Given the description of an element on the screen output the (x, y) to click on. 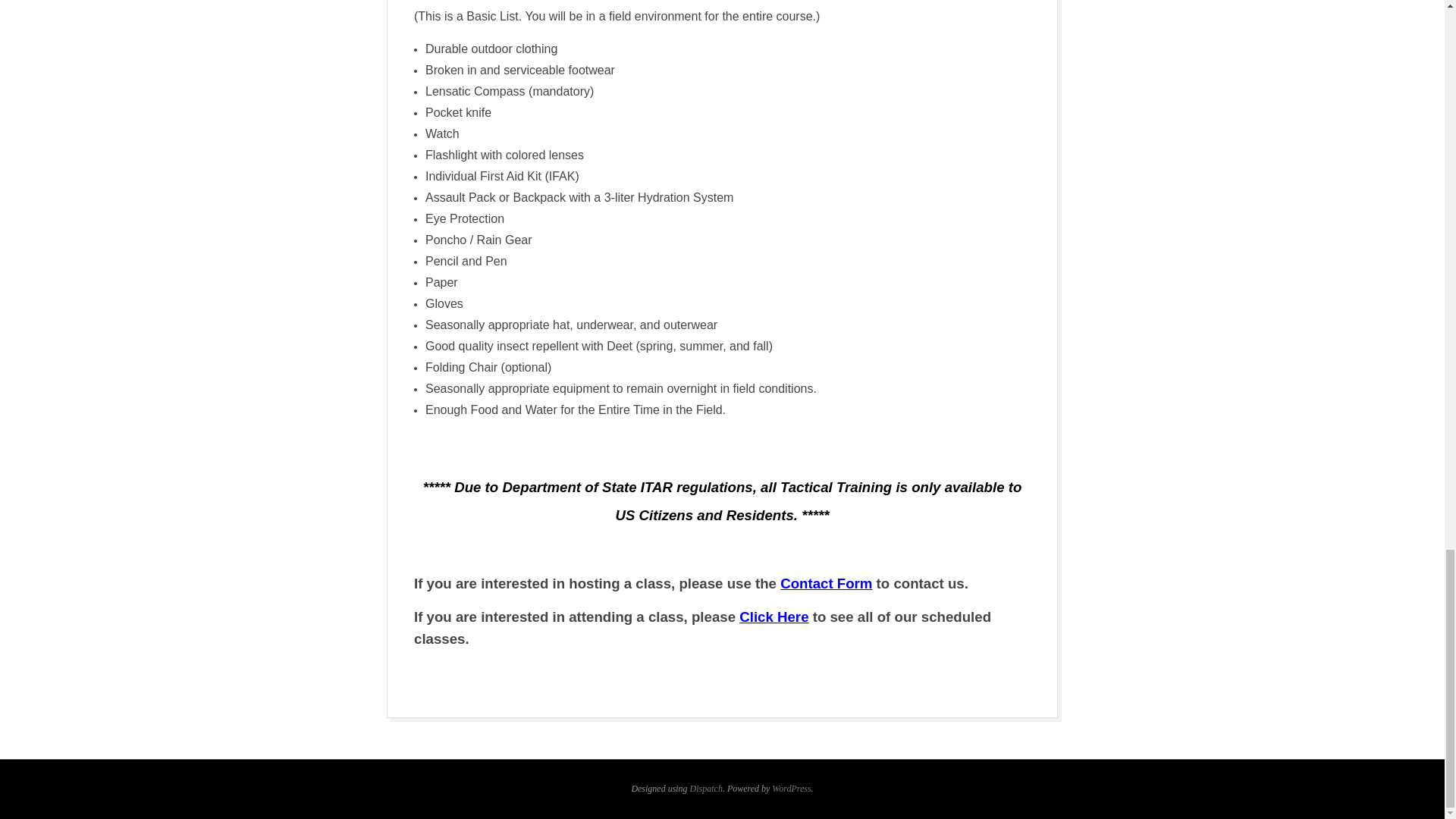
Dispatch (706, 787)
Contact Form (826, 583)
Click Here (773, 616)
Dispatch WordPress Theme (706, 787)
State-of-the-art semantic personal publishing platform (790, 787)
